Given the description of an element on the screen output the (x, y) to click on. 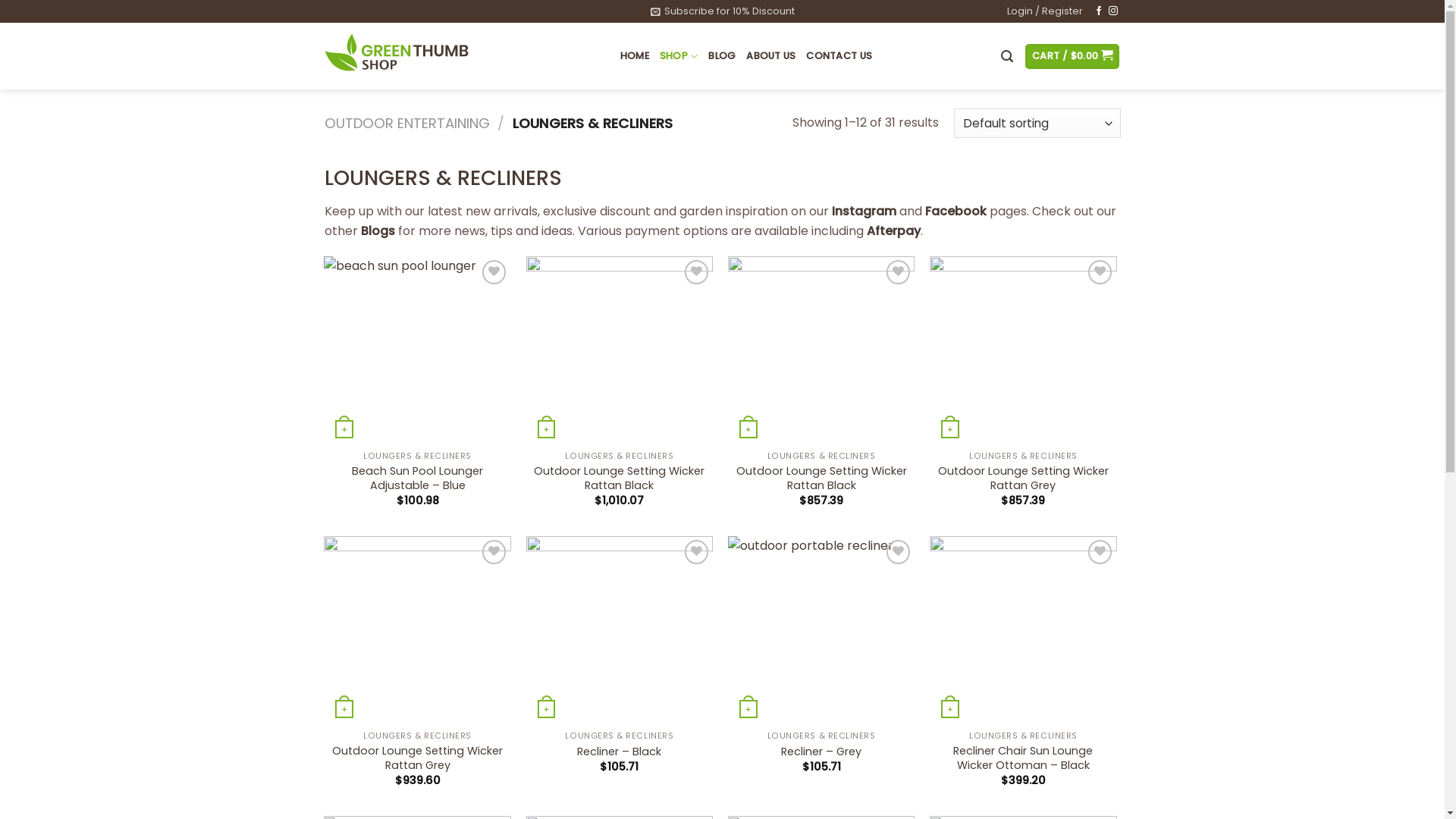
CART / $0.00 Element type: text (1072, 56)
CONTACT US Element type: text (839, 55)
Instagram Element type: text (863, 210)
Outdoor Lounge Setting Wicker Rattan Grey Element type: text (1023, 478)
Outdoor Lounge Setting Wicker Rattan Black Element type: text (821, 478)
Outdoor Lounge Setting Wicker Rattan Black Element type: text (619, 478)
Login / Register Element type: text (1044, 11)
Facebook Element type: text (957, 210)
SHOP Element type: text (678, 56)
HOME Element type: text (634, 55)
BLOG Element type: text (721, 55)
Subscribe for 10% Discount Element type: text (722, 11)
OUTDOOR ENTERTAINING Element type: text (406, 122)
ABOUT US Element type: text (770, 55)
Blogs Element type: text (377, 230)
Afterpay Element type: text (892, 230)
Outdoor Lounge Setting Wicker Rattan Grey Element type: text (417, 757)
